Given the description of an element on the screen output the (x, y) to click on. 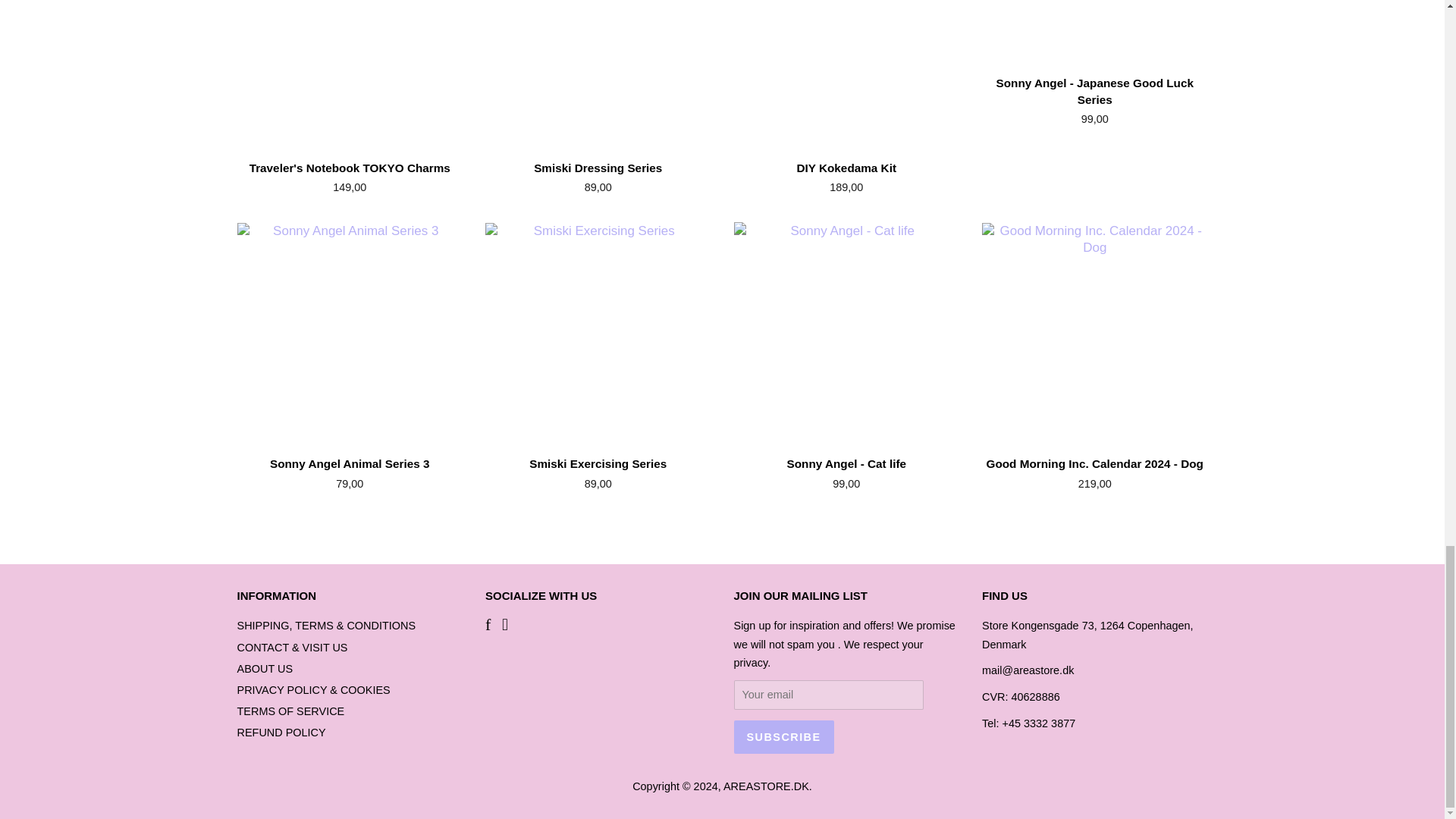
Subscribe (783, 736)
